Given the description of an element on the screen output the (x, y) to click on. 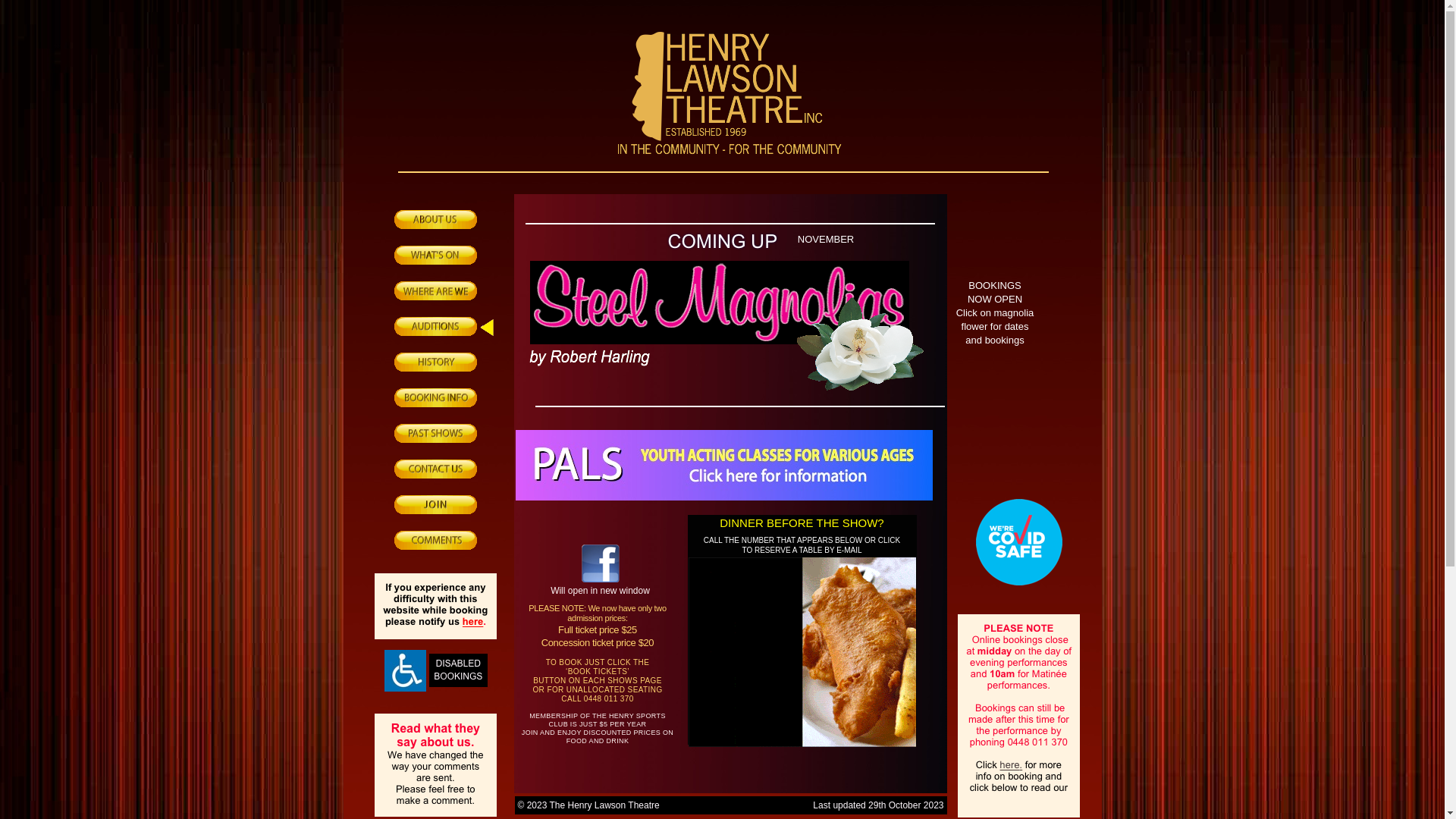
DISABED_BOOKINGS.html Element type: hover (404, 686)
PALS_PAGE.html Element type: hover (723, 495)
STEEL_MAGNOLIAS_2023.html Element type: hover (859, 385)
https://www.facebook.com/henrylawsontheatre/ Element type: hover (599, 577)
